Given the description of an element on the screen output the (x, y) to click on. 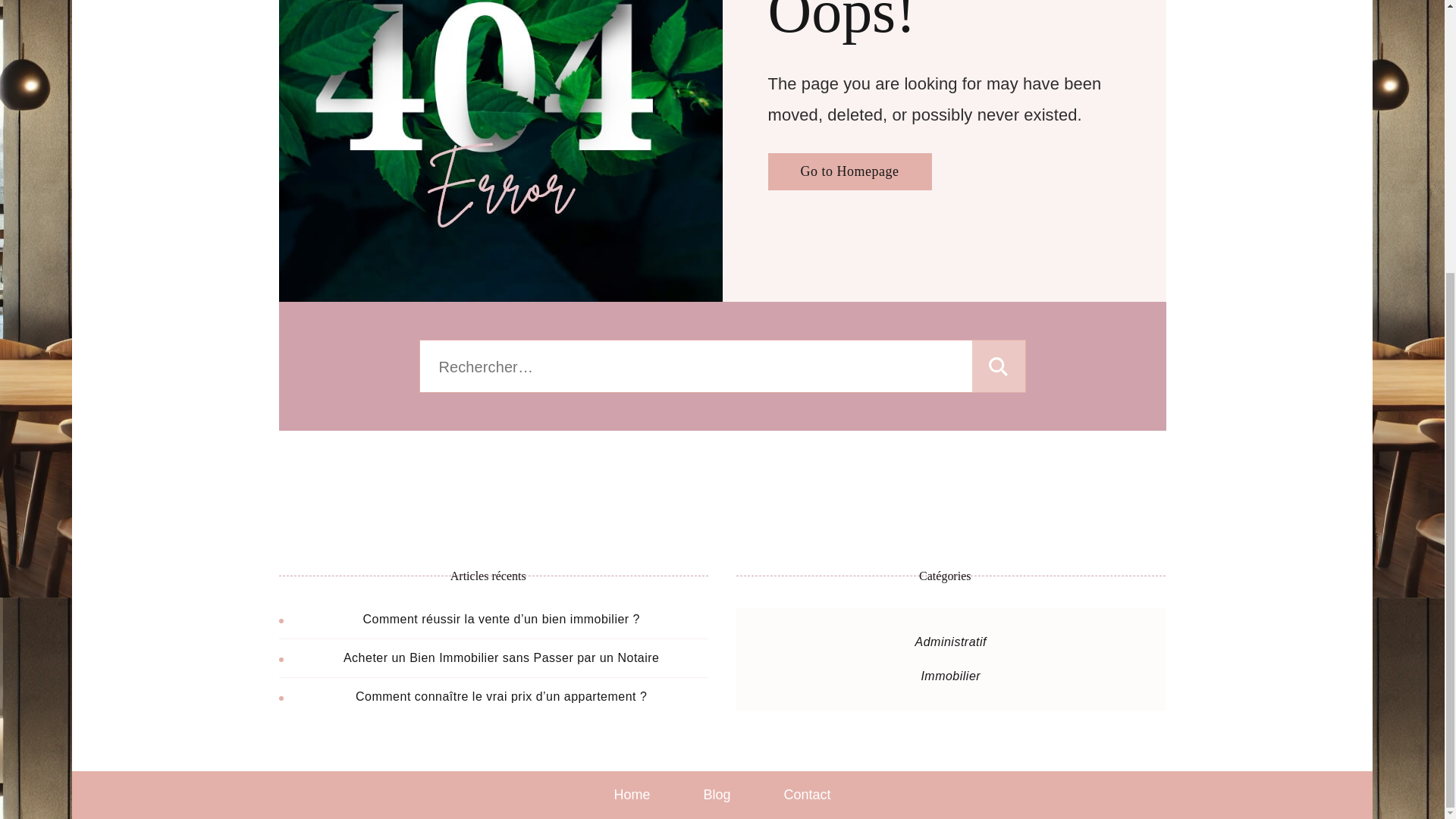
Acheter un Bien Immobilier sans Passer par un Notaire (501, 657)
Rechercher (998, 366)
Rechercher (998, 366)
Rechercher (998, 366)
Administratif (951, 641)
Immobilier (949, 675)
Go to Homepage (849, 171)
